Given the description of an element on the screen output the (x, y) to click on. 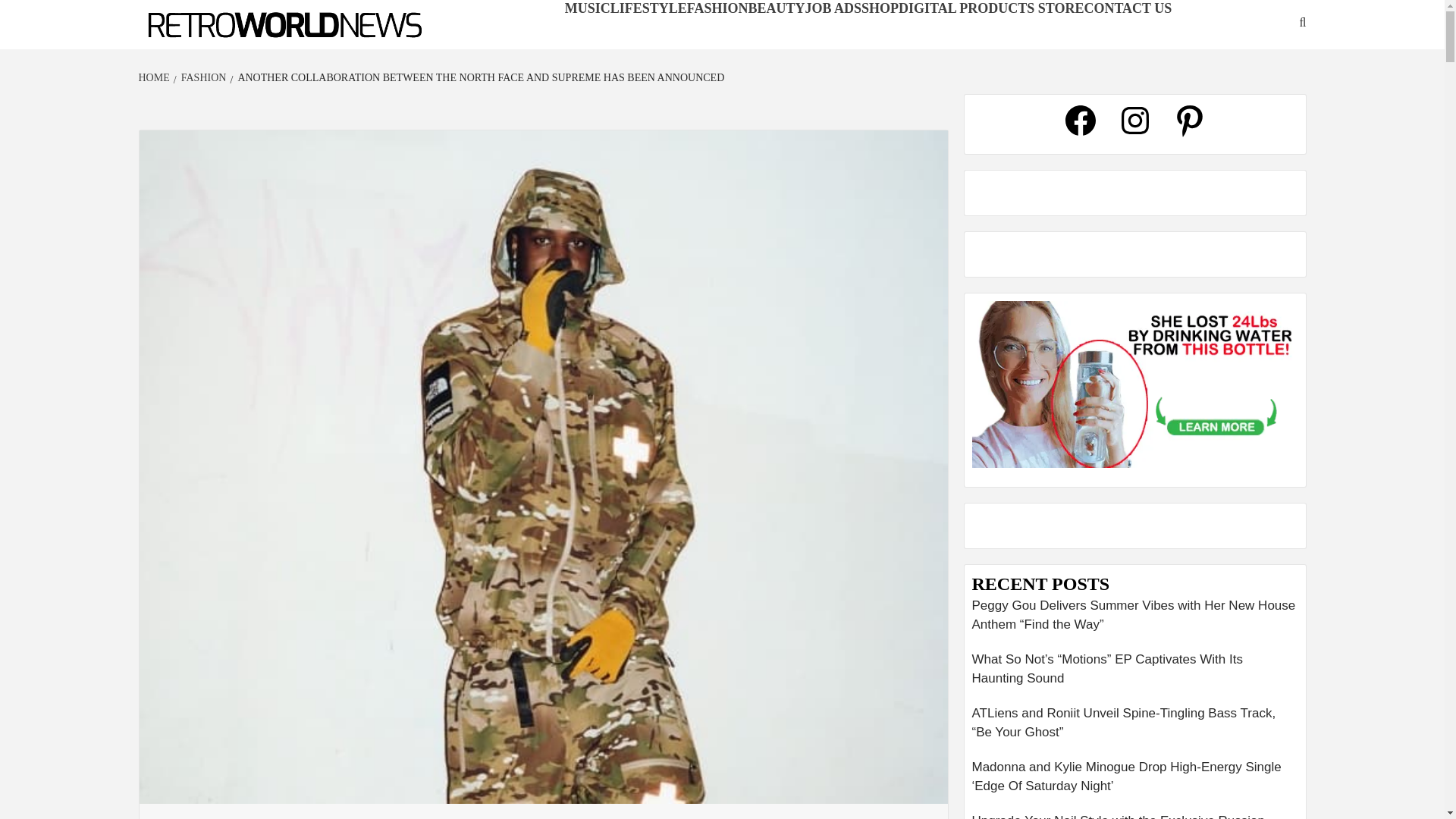
MUSIC (587, 7)
FASHION (201, 77)
LIFESTYLE (648, 7)
JOB ADS (833, 7)
BEAUTY (776, 7)
SHOP (879, 7)
DIGITAL PRODUCTS STORE (990, 7)
CONTACT US (1127, 7)
RETROWORLDNEWS (223, 48)
HOME (155, 77)
